Given the description of an element on the screen output the (x, y) to click on. 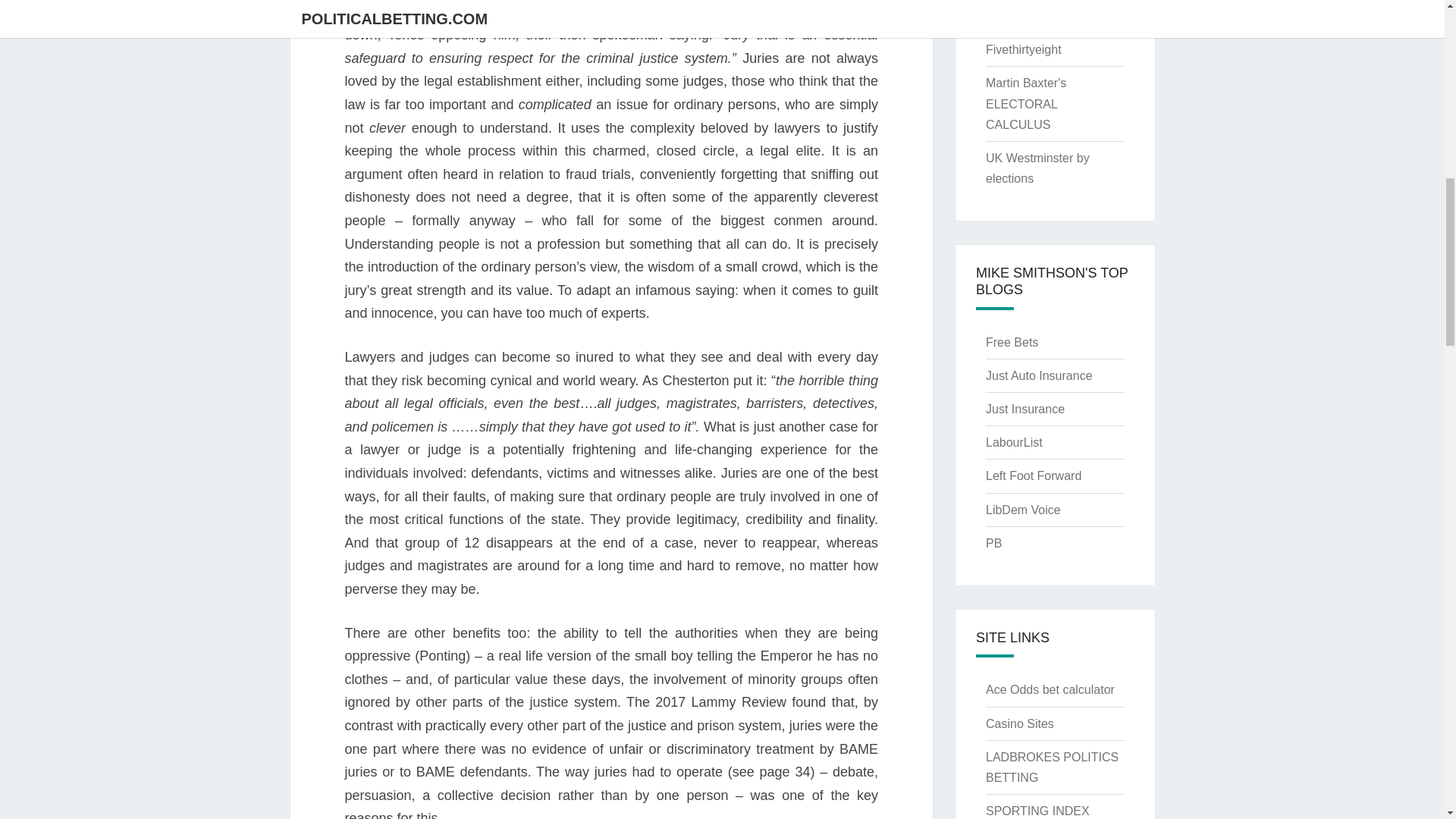
Martin Baxter's ELECTORAL CALCULUS (1025, 103)
Casino Sites (1019, 723)
Economist US (1023, 15)
LibDem Voice (1023, 509)
SPORTING INDEX (1037, 810)
Just Auto Insurance (1039, 375)
PB (993, 543)
Left Foot Forward (1033, 475)
UK Westminster by elections (1037, 168)
Free Bets (1011, 341)
